Given the description of an element on the screen output the (x, y) to click on. 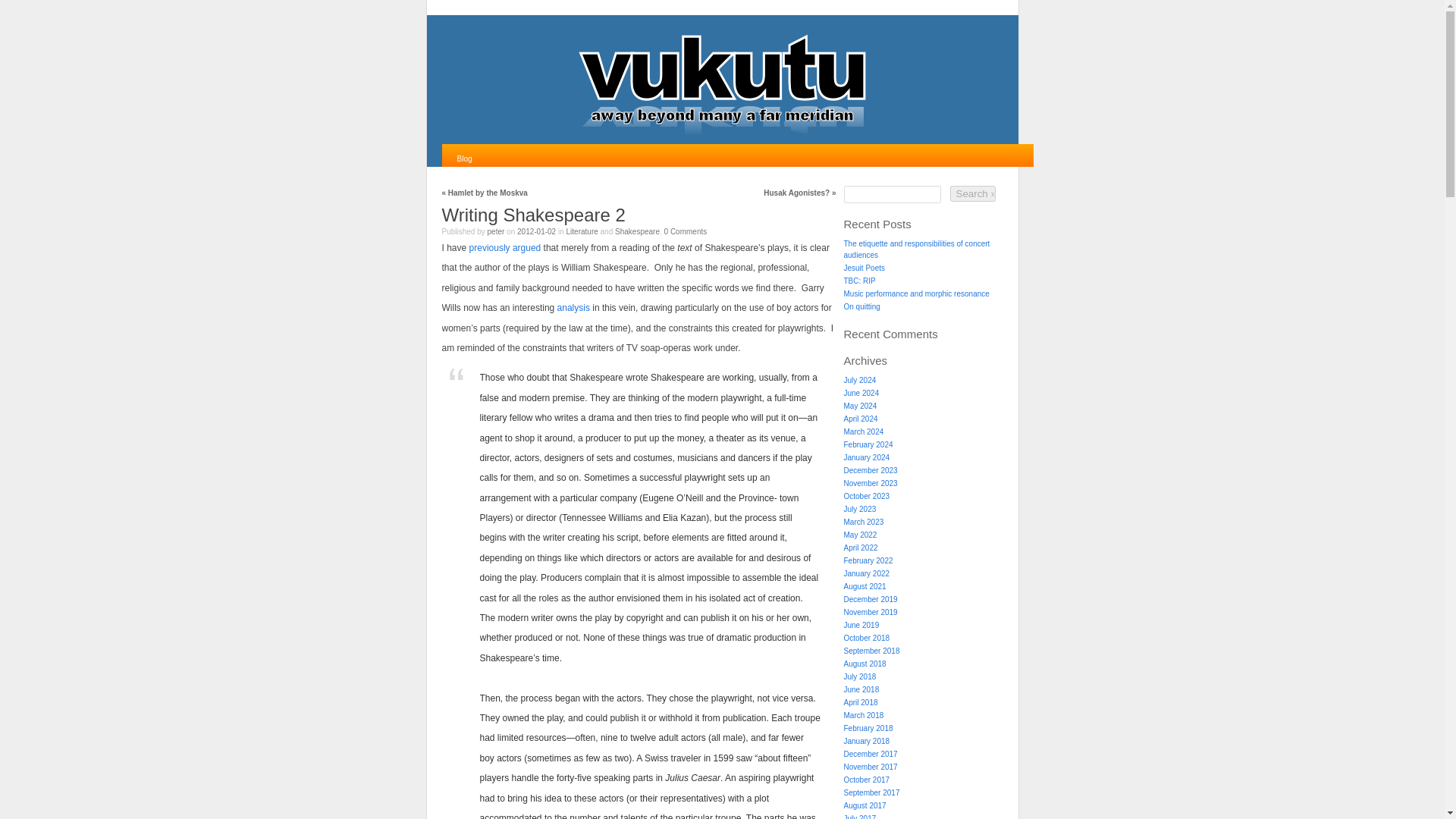
TBC: RIP (859, 280)
Writing Shakespeare 2 (532, 214)
Blog (464, 159)
peter (496, 231)
July 2023 (859, 509)
January 2024 (866, 457)
February 2024 (867, 444)
May 2024 (859, 406)
April 2022 (860, 547)
Literature (582, 231)
